Given the description of an element on the screen output the (x, y) to click on. 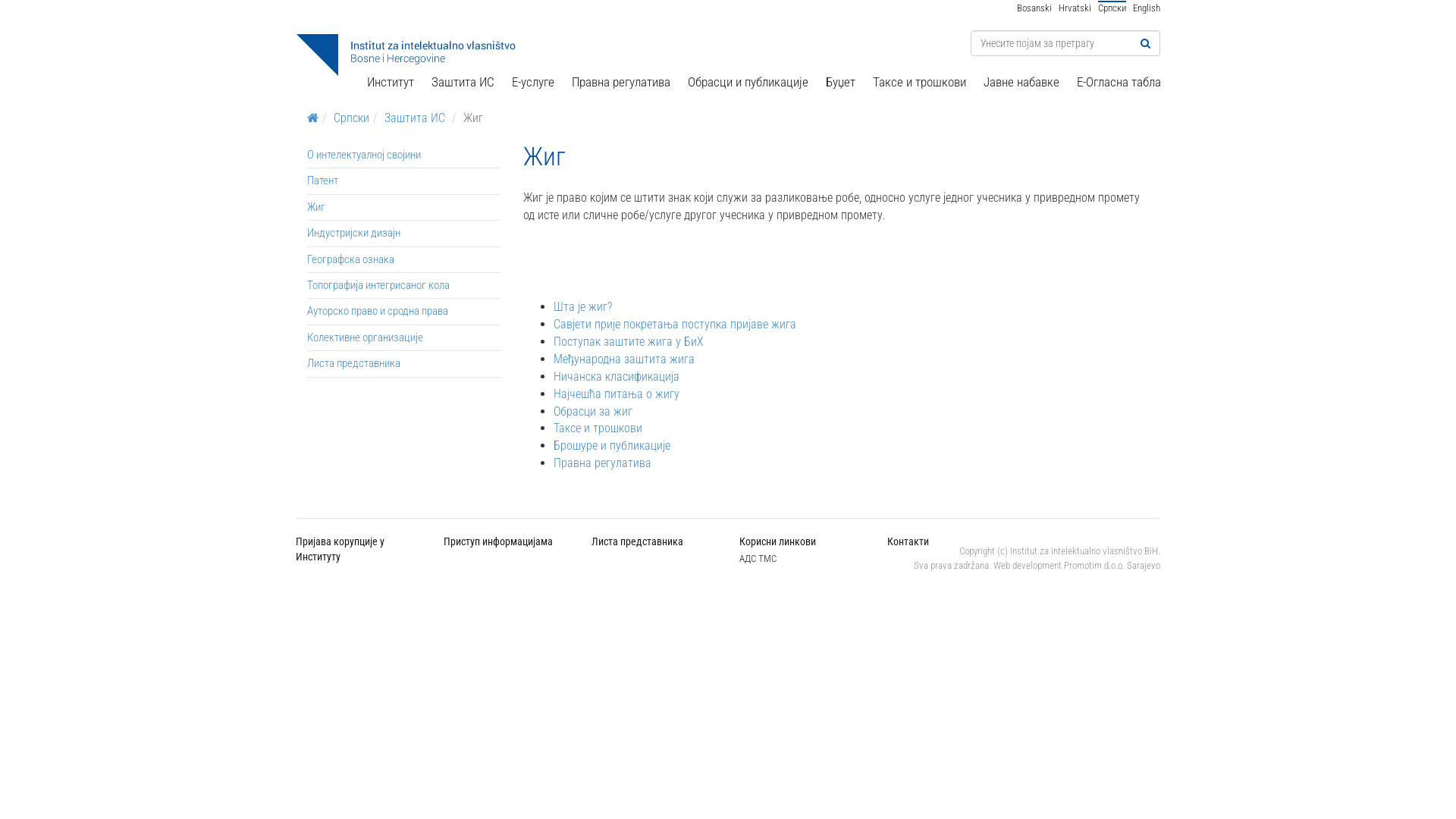
Promotim d.o.o. Element type: text (1093, 565)
Hrvatski Element type: text (1074, 6)
English Element type: text (1146, 6)
Bosanski Element type: text (1033, 6)
